Given the description of an element on the screen output the (x, y) to click on. 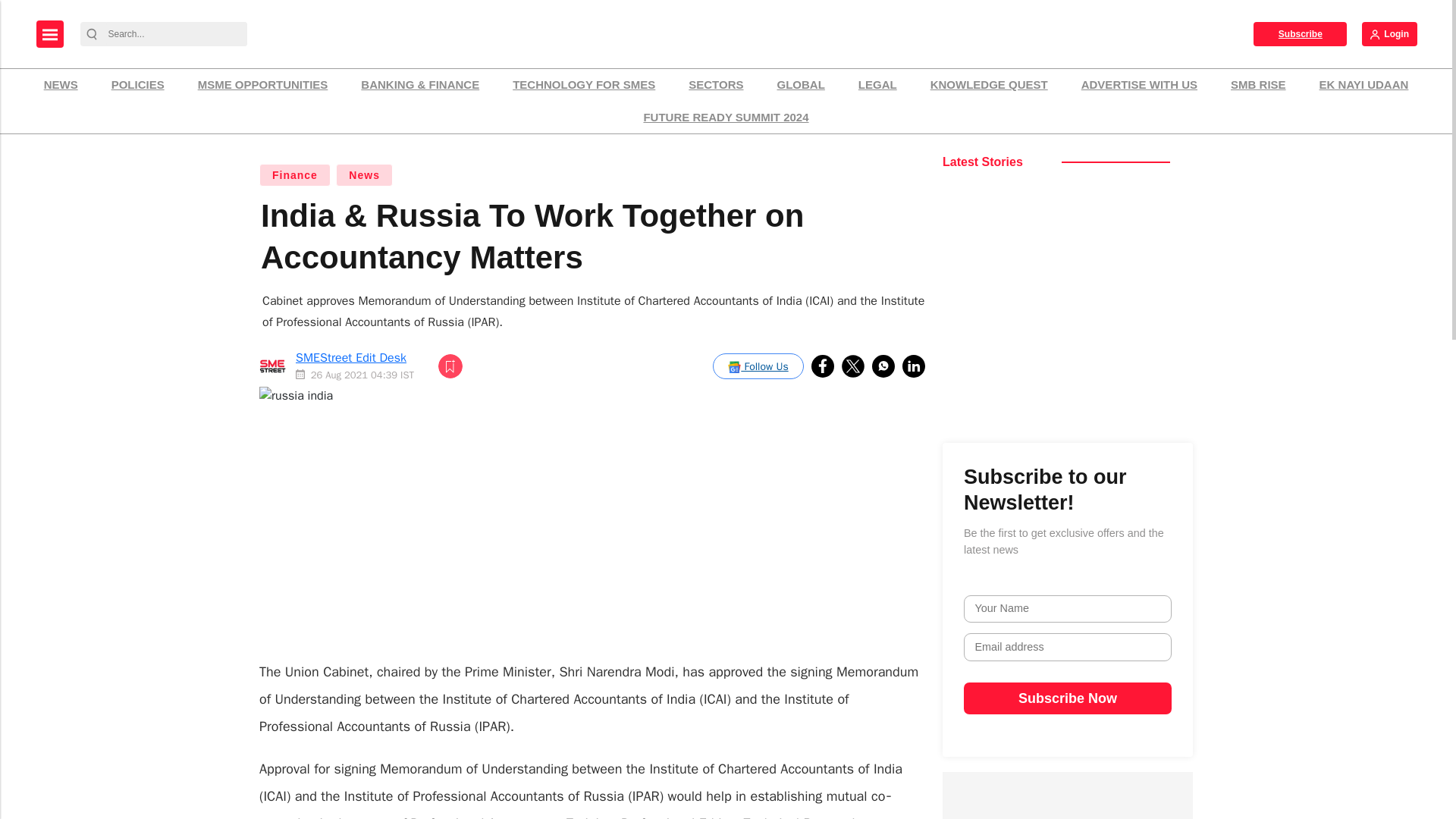
KNOWLEDGE QUEST (988, 84)
MSME OPPORTUNITIES (262, 84)
SECTORS (715, 84)
POLICIES (138, 84)
TECHNOLOGY FOR SMES (583, 84)
SMB RISE (1258, 84)
NEWS (60, 84)
FUTURE READY SUMMIT 2024 (725, 117)
GLOBAL (800, 84)
Subscribe (1299, 33)
EK NAYI UDAAN (1364, 84)
Login (1388, 33)
SMEStreet Edit Desk (350, 357)
Finance (294, 174)
LEGAL (877, 84)
